Given the description of an element on the screen output the (x, y) to click on. 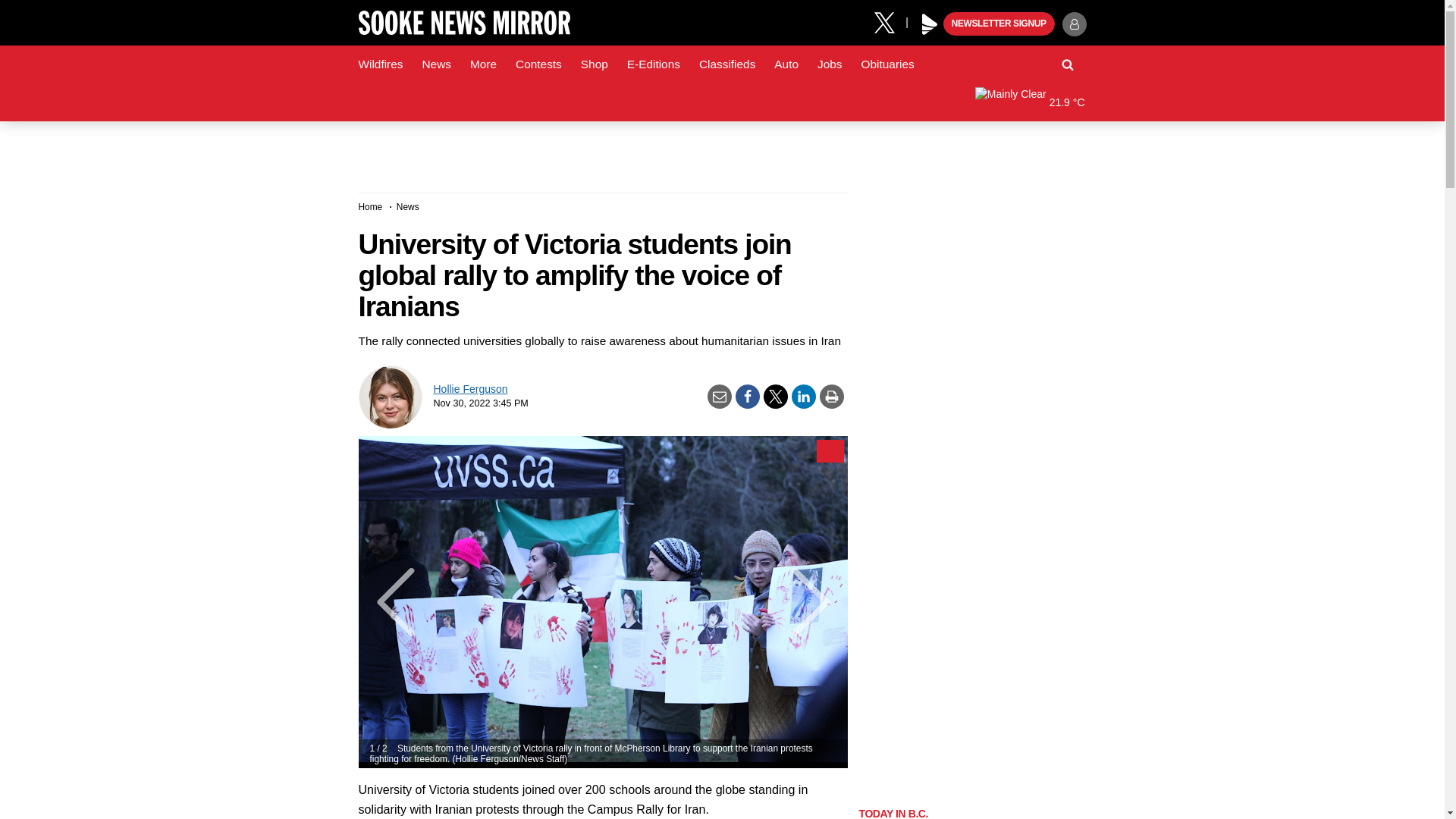
NEWSLETTER SIGNUP (998, 24)
Play (929, 24)
X (889, 21)
Wildfires (380, 64)
News (435, 64)
Black Press Media (929, 24)
Expand (829, 450)
